Given the description of an element on the screen output the (x, y) to click on. 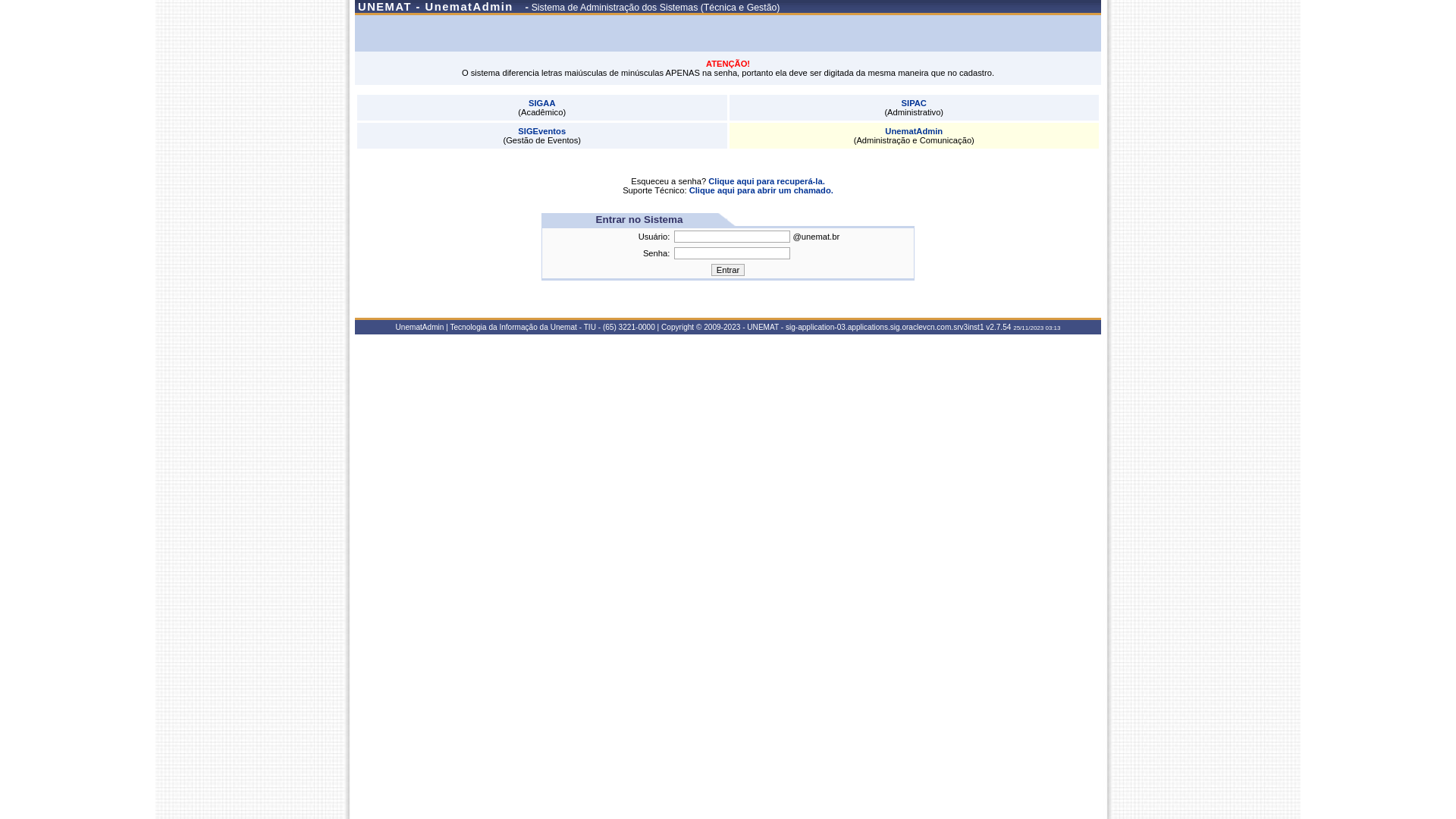
Entrar Element type: text (727, 269)
Clique aqui para abrir um chamado. Element type: text (761, 189)
SIGEventos Element type: text (541, 130)
v2.7.54 Element type: text (997, 327)
SIPAC Element type: text (913, 102)
SIGAA Element type: text (541, 102)
UnematAdmin Element type: text (913, 130)
